Given the description of an element on the screen output the (x, y) to click on. 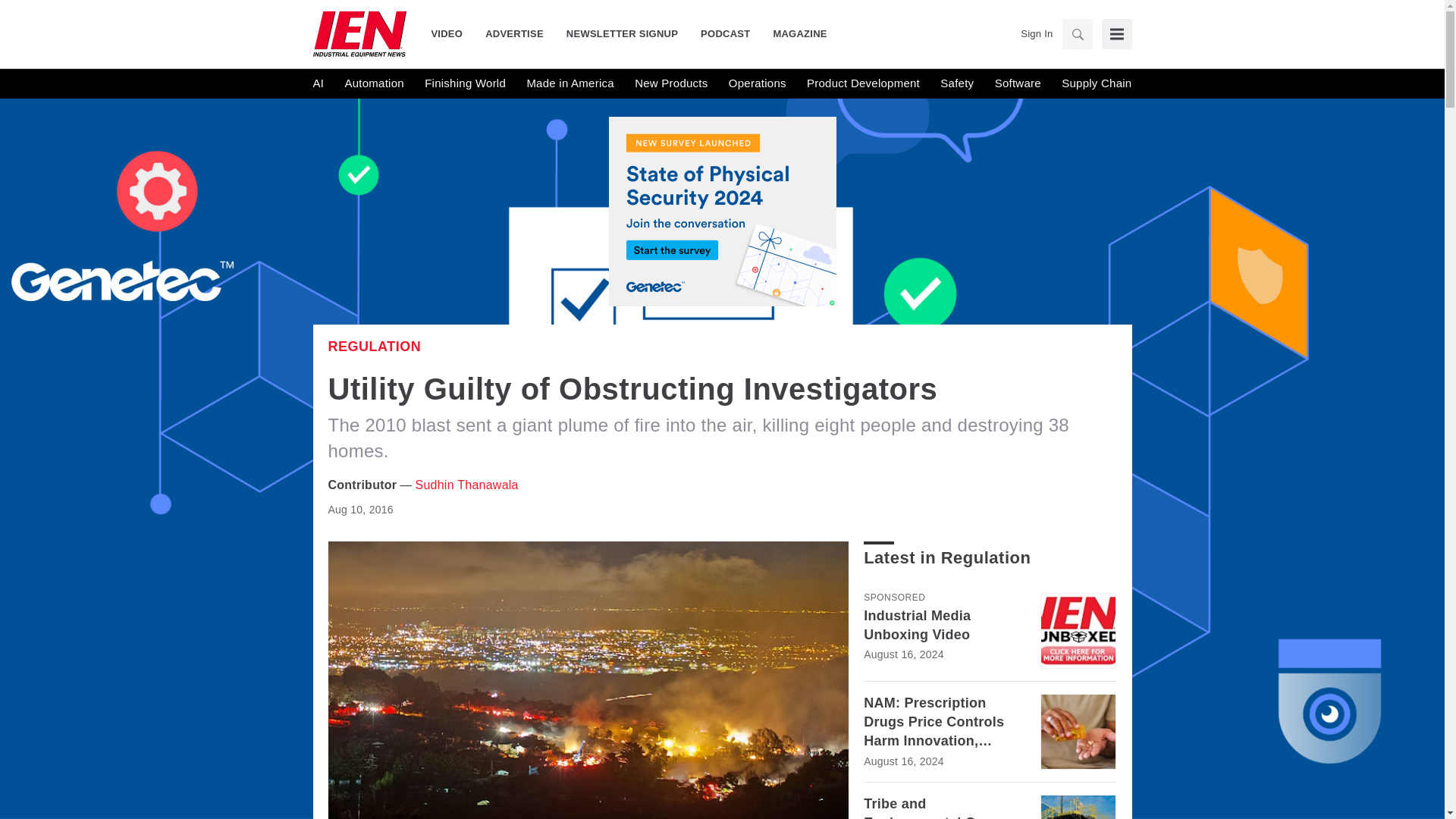
Finishing World (465, 83)
VIDEO (452, 33)
Product Development (863, 83)
New Products (670, 83)
Automation (373, 83)
Operations (757, 83)
PODCAST (724, 33)
ADVERTISE (514, 33)
MAGAZINE (794, 33)
Sign In (1036, 33)
